Given the description of an element on the screen output the (x, y) to click on. 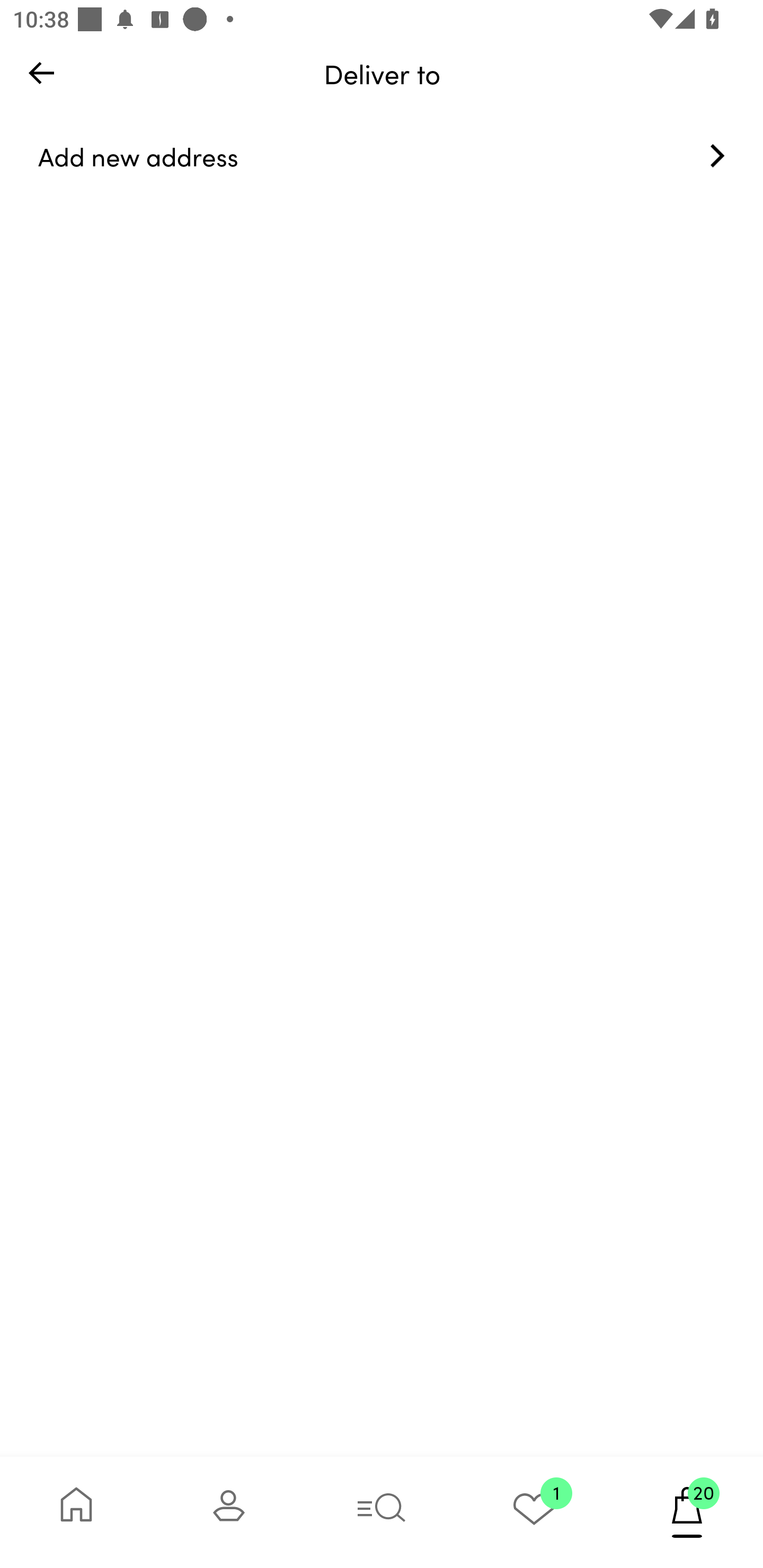
Add new address (381, 155)
1 (533, 1512)
20 (686, 1512)
